Given the description of an element on the screen output the (x, y) to click on. 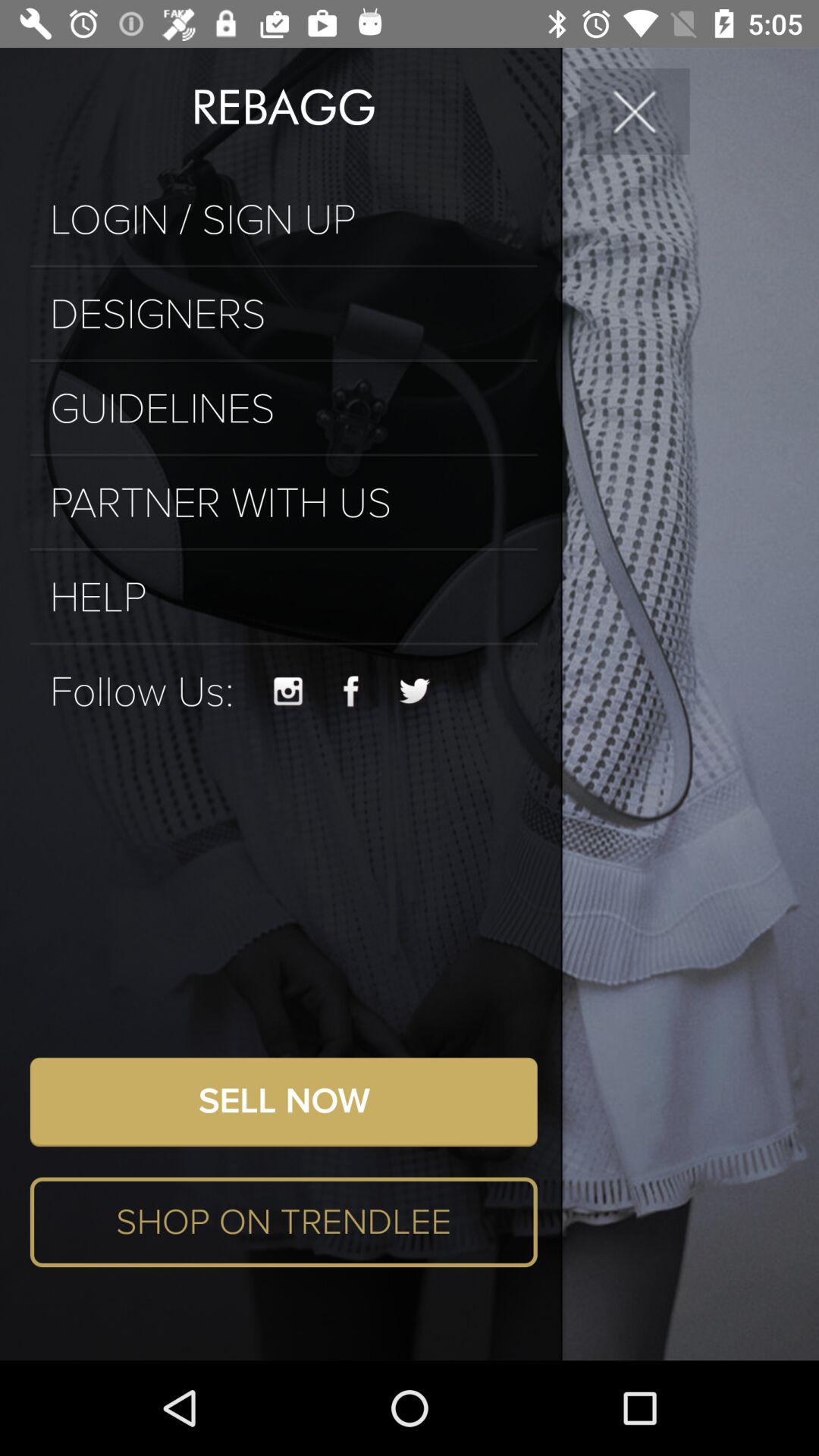
turn off the icon next to rebagg icon (634, 110)
